Given the description of an element on the screen output the (x, y) to click on. 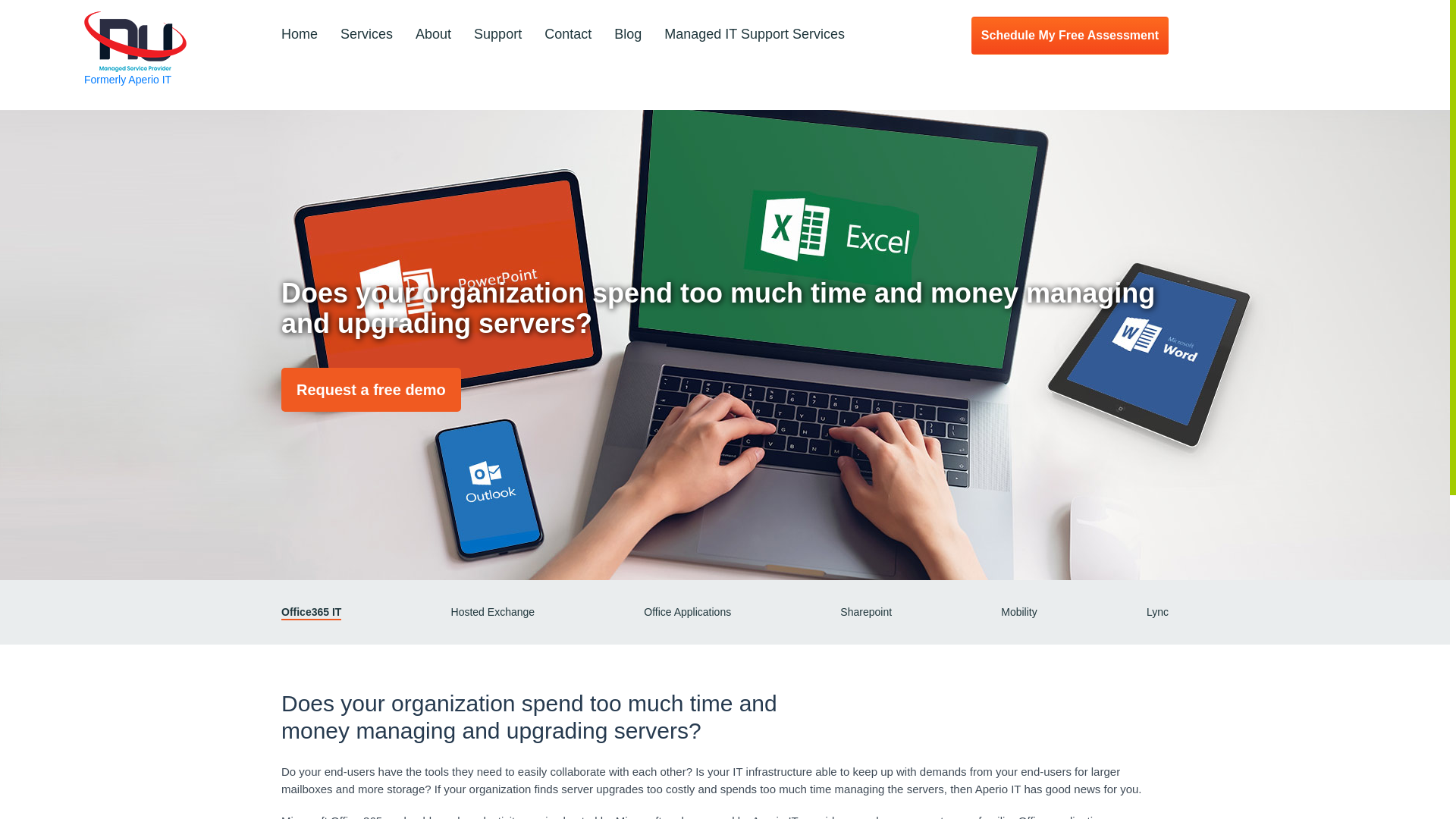
Request a free demo (371, 389)
Hosted Exchange (493, 612)
Contact (567, 34)
Blog (628, 34)
Managed IT Support Services (753, 34)
Mobility (1018, 612)
About (432, 34)
Support (497, 34)
Office365 IT (310, 611)
Sharepoint (865, 612)
